Given the description of an element on the screen output the (x, y) to click on. 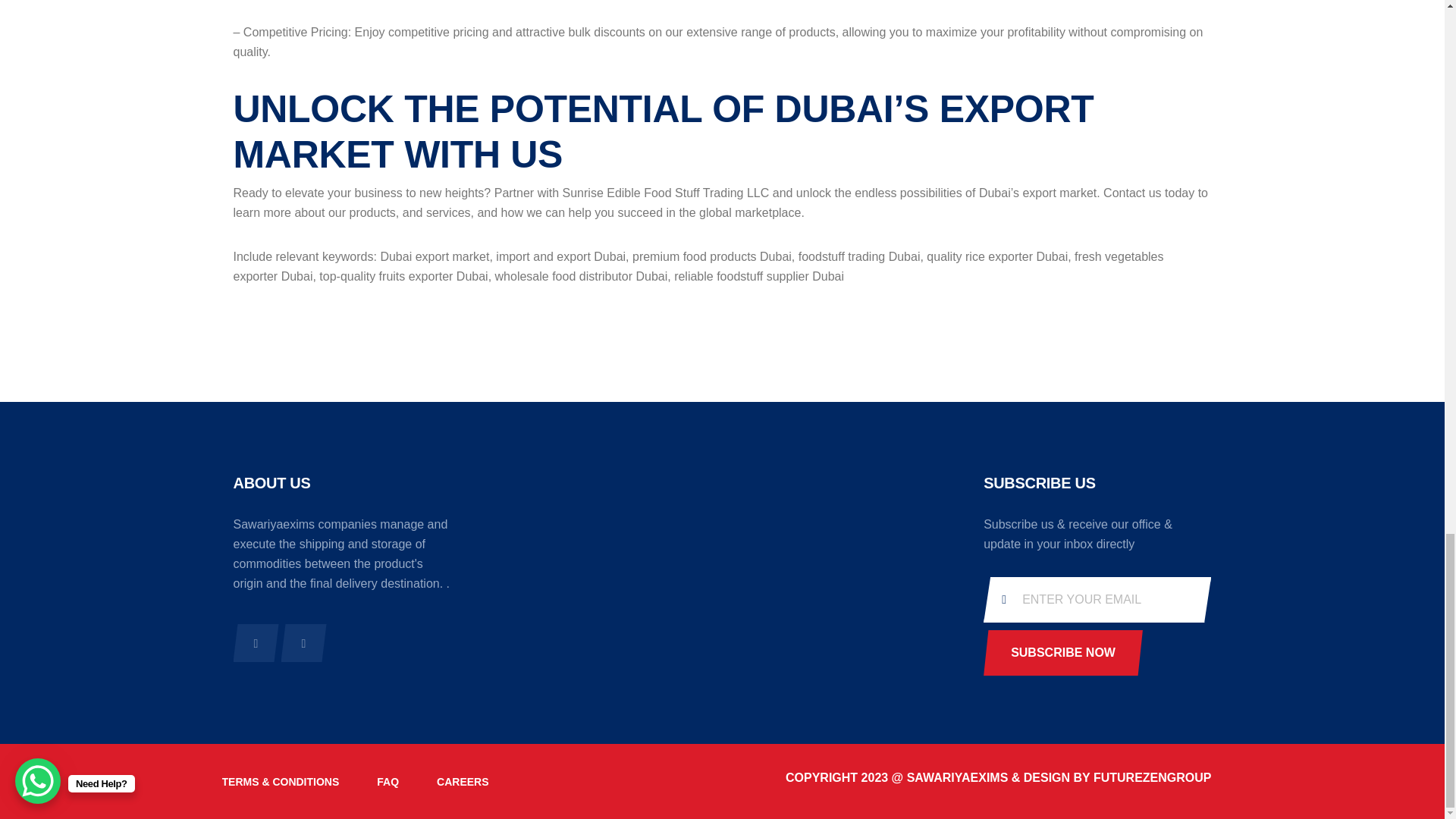
FAQ (387, 781)
SUBSCRIBE NOW (1063, 652)
CAREERS (461, 781)
